Given the description of an element on the screen output the (x, y) to click on. 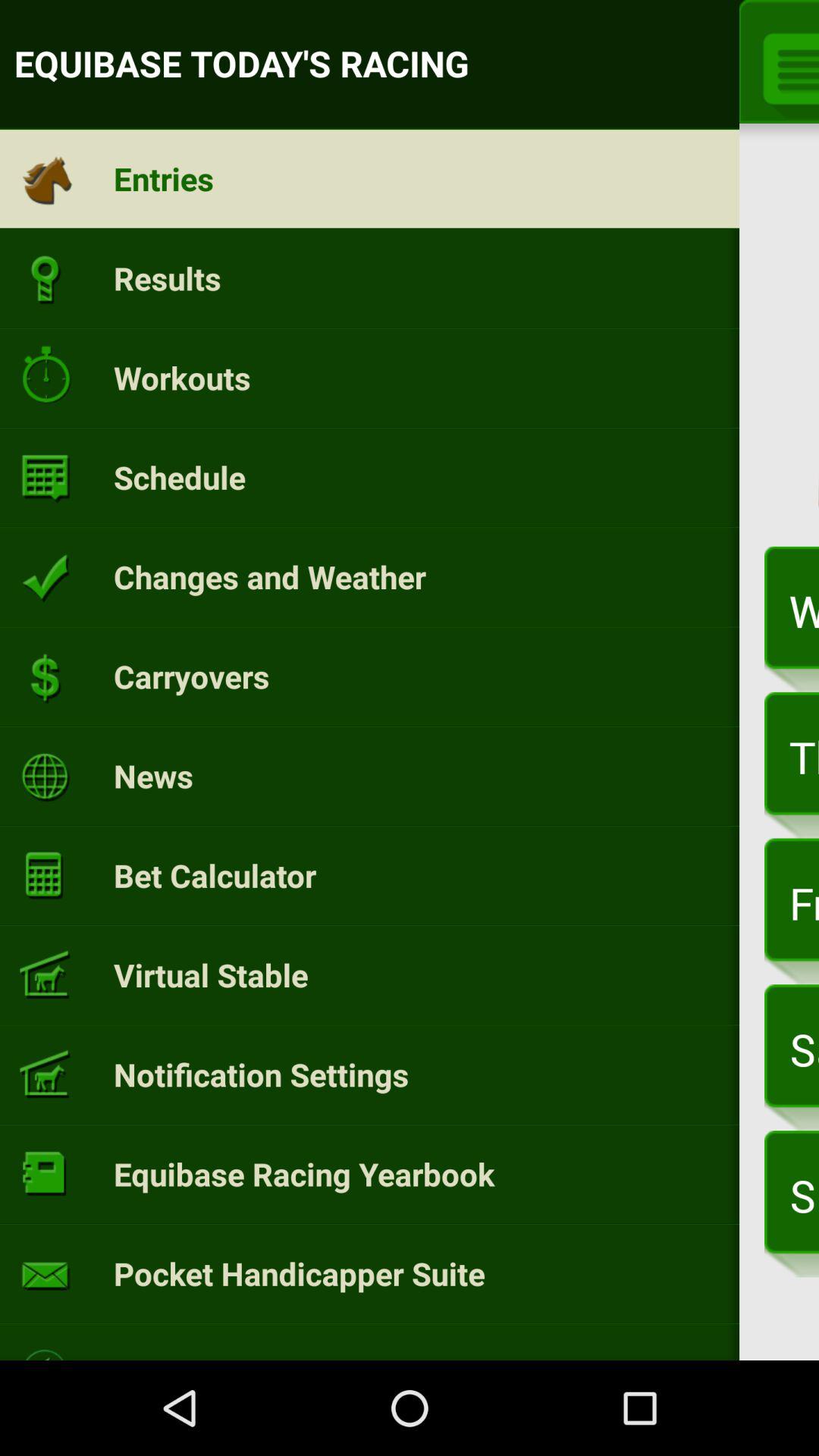
tap icon next to friday, mar 31 (214, 874)
